Given the description of an element on the screen output the (x, y) to click on. 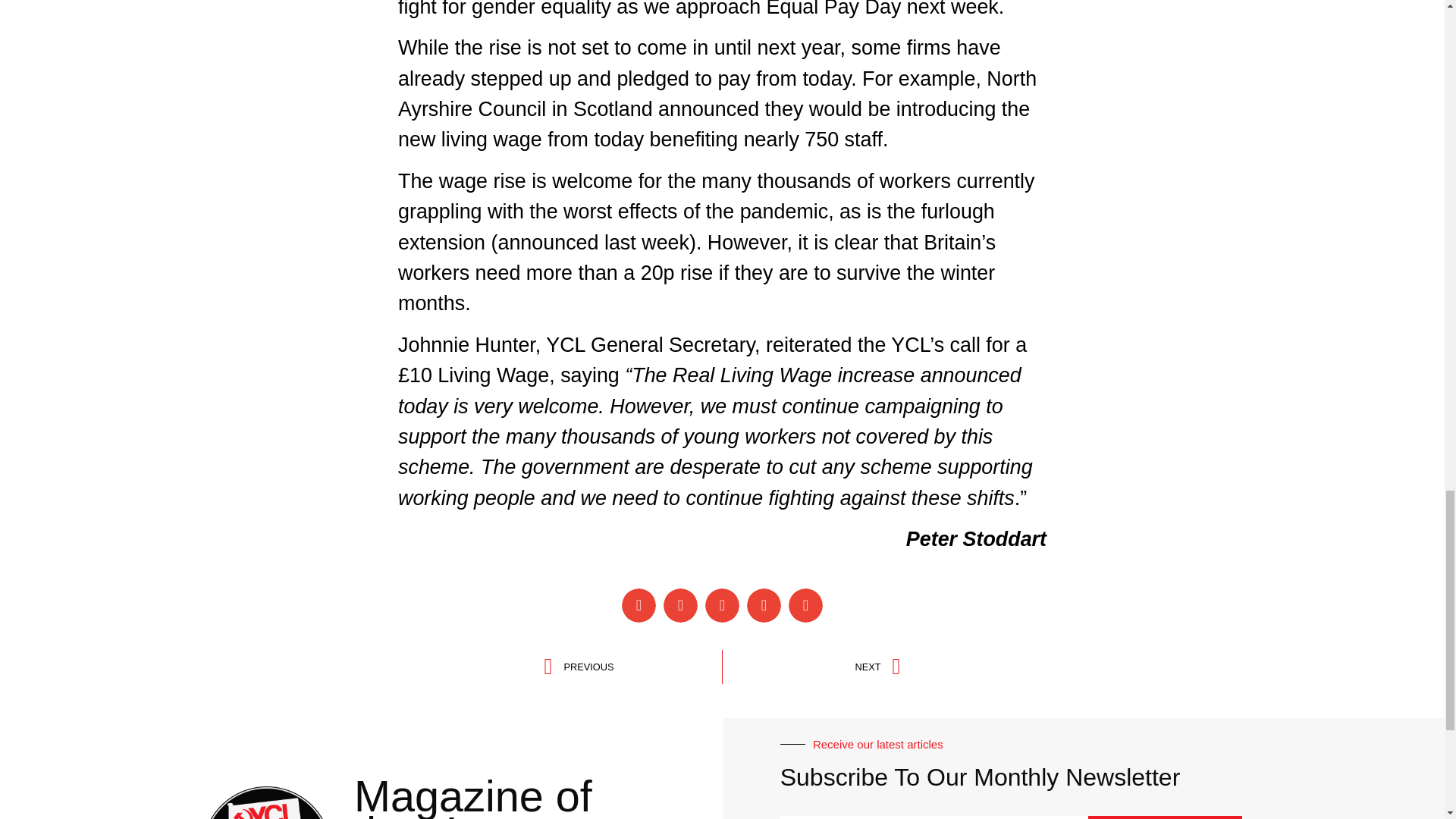
PREVIOUS (633, 666)
subscribe (1164, 817)
NEXT (472, 795)
